Given the description of an element on the screen output the (x, y) to click on. 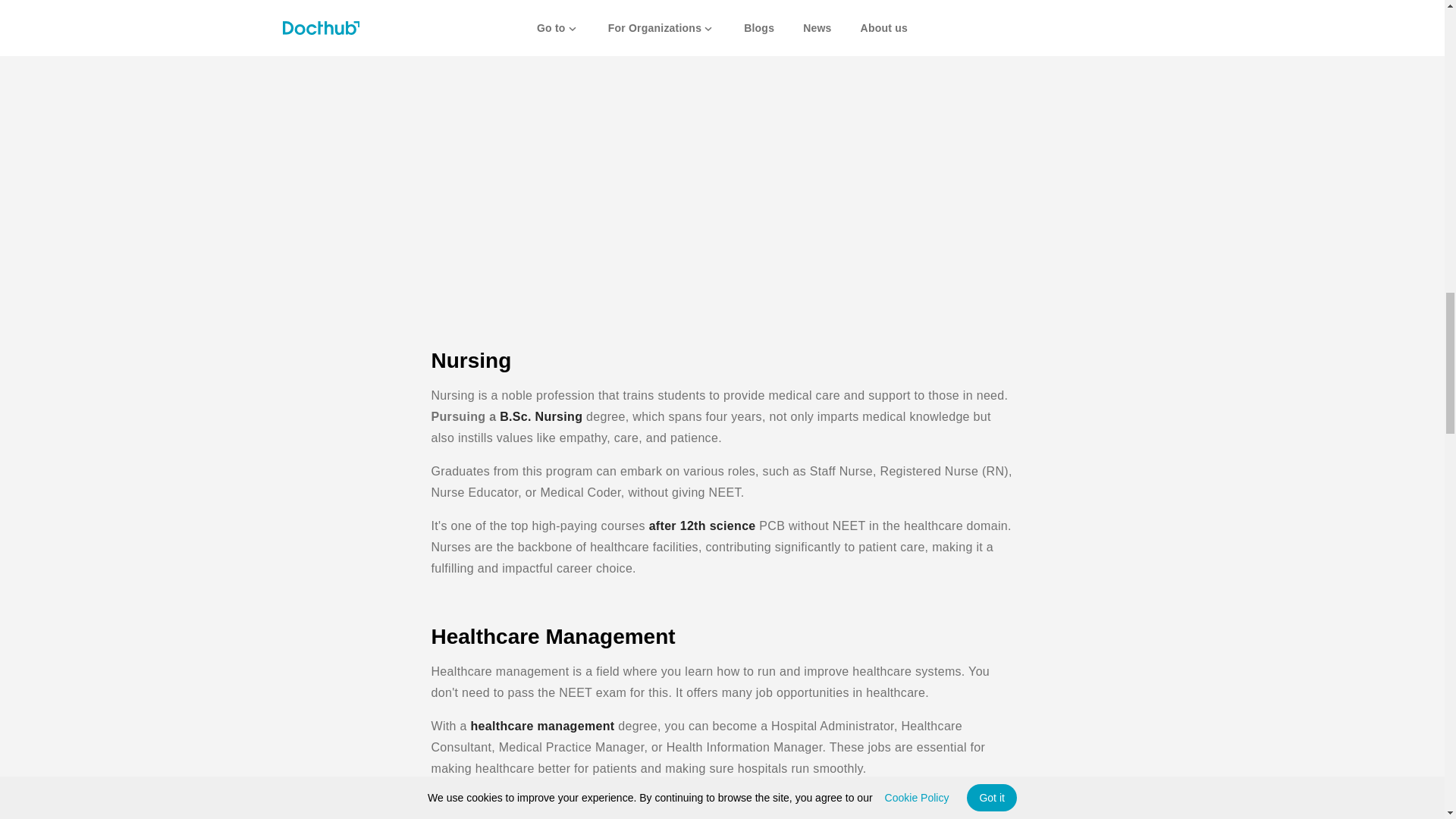
healthcare management (853, 801)
after 12th science (702, 525)
B.Sc. Nursing (540, 416)
healthcare management (544, 725)
